Given the description of an element on the screen output the (x, y) to click on. 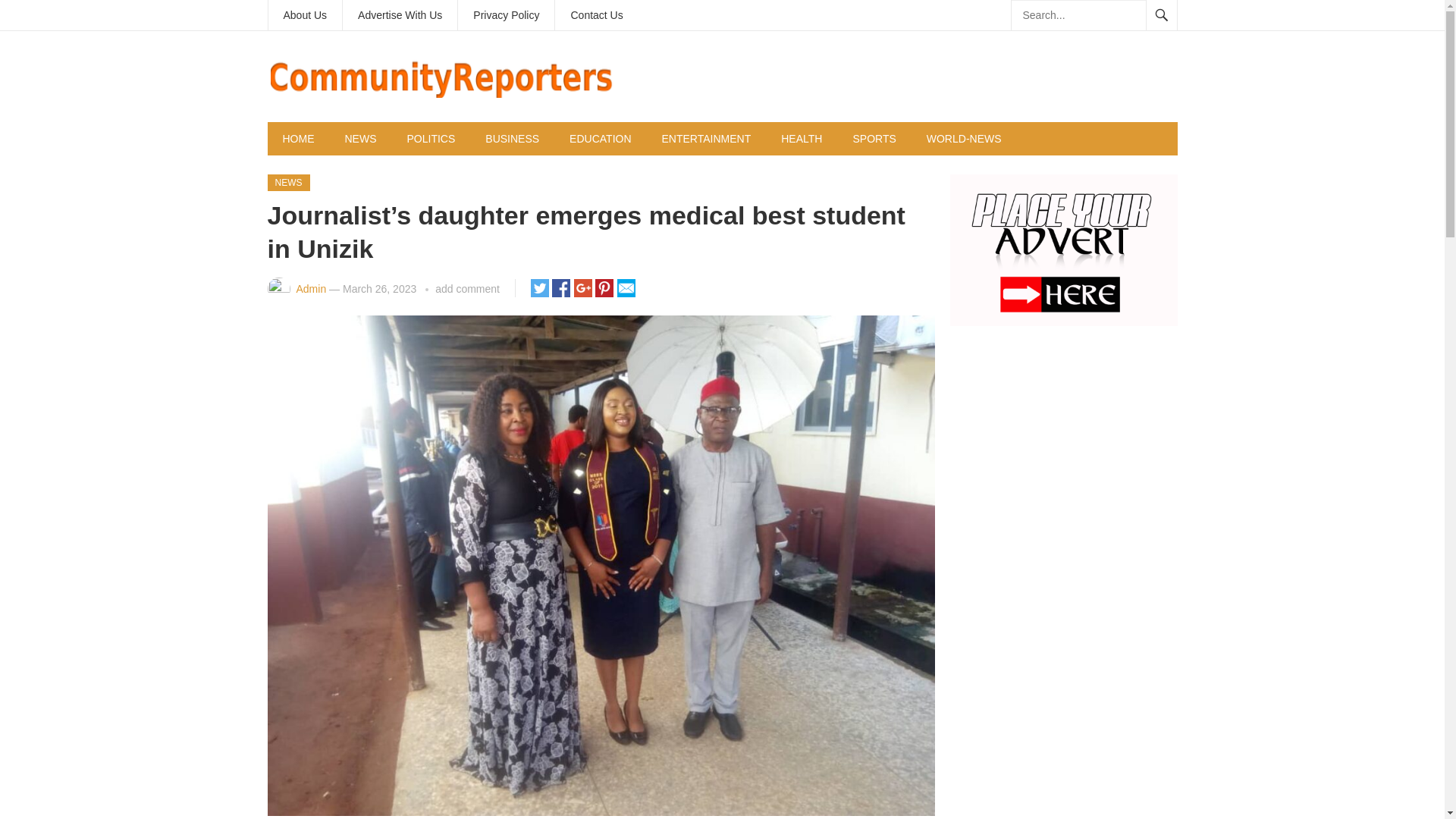
About Us (304, 15)
HEALTH (801, 138)
EDUCATION (600, 138)
Admin (310, 288)
Privacy Policy (506, 15)
View all posts in News (287, 182)
NEWS (287, 182)
Contact Us (595, 15)
POLITICS (430, 138)
HOME (297, 138)
Advertise With Us (399, 15)
NEWS (360, 138)
SPORTS (874, 138)
BUSINESS (512, 138)
WORLD-NEWS (963, 138)
